Given the description of an element on the screen output the (x, y) to click on. 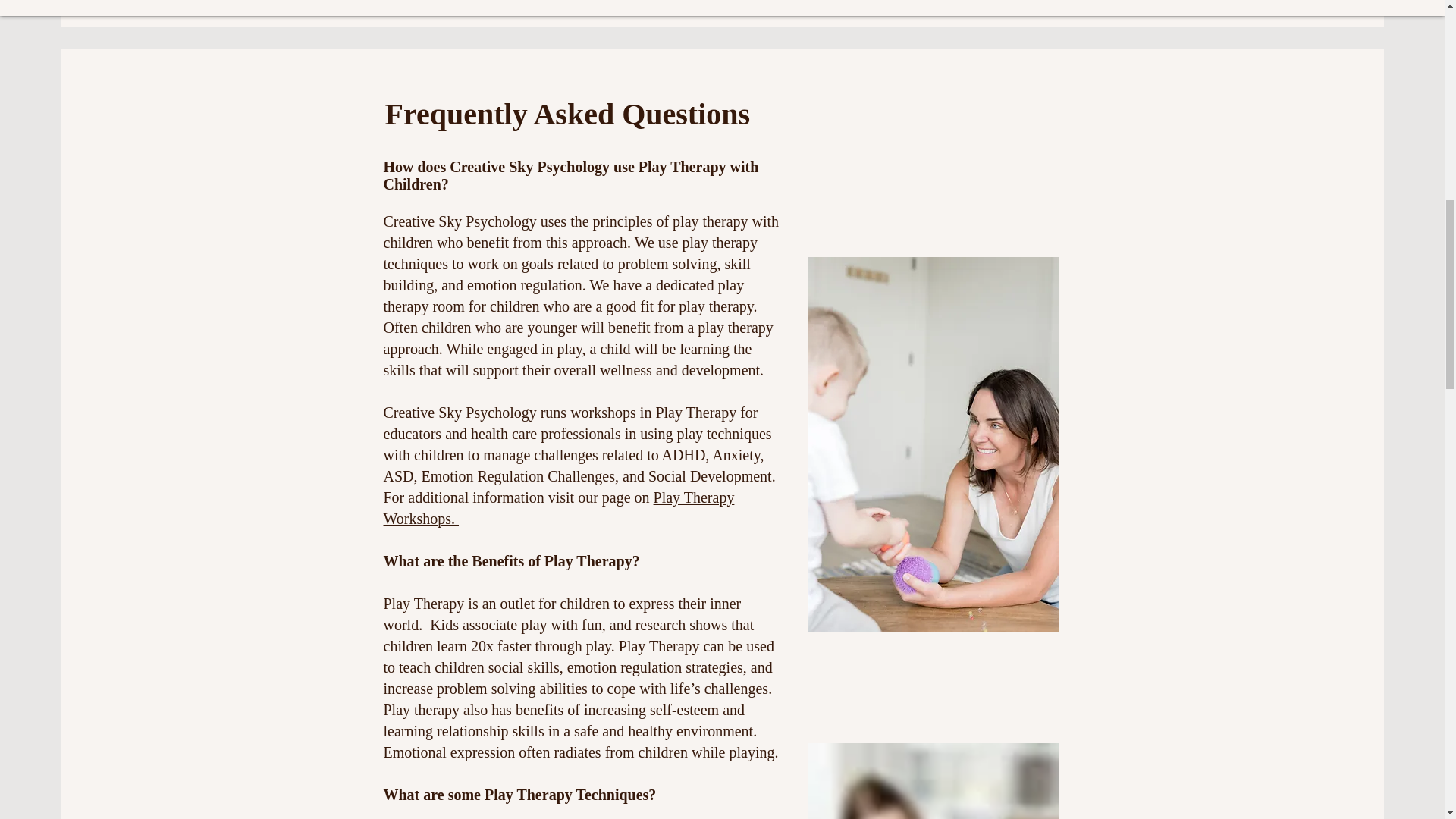
Play Therapy Workshops.  (559, 507)
